Given the description of an element on the screen output the (x, y) to click on. 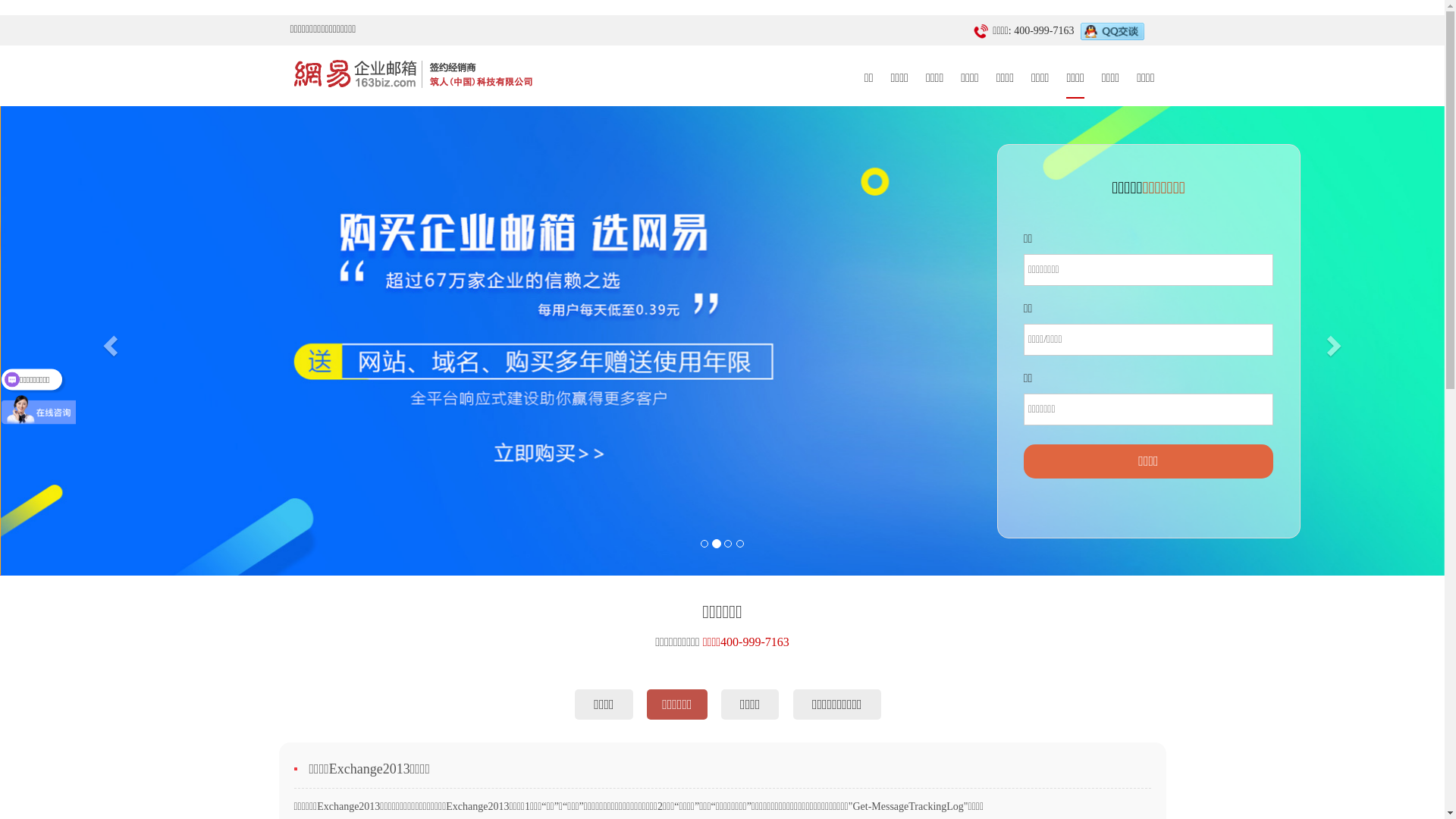
Next Element type: text (1335, 340)
Previous Element type: text (108, 340)
